Given the description of an element on the screen output the (x, y) to click on. 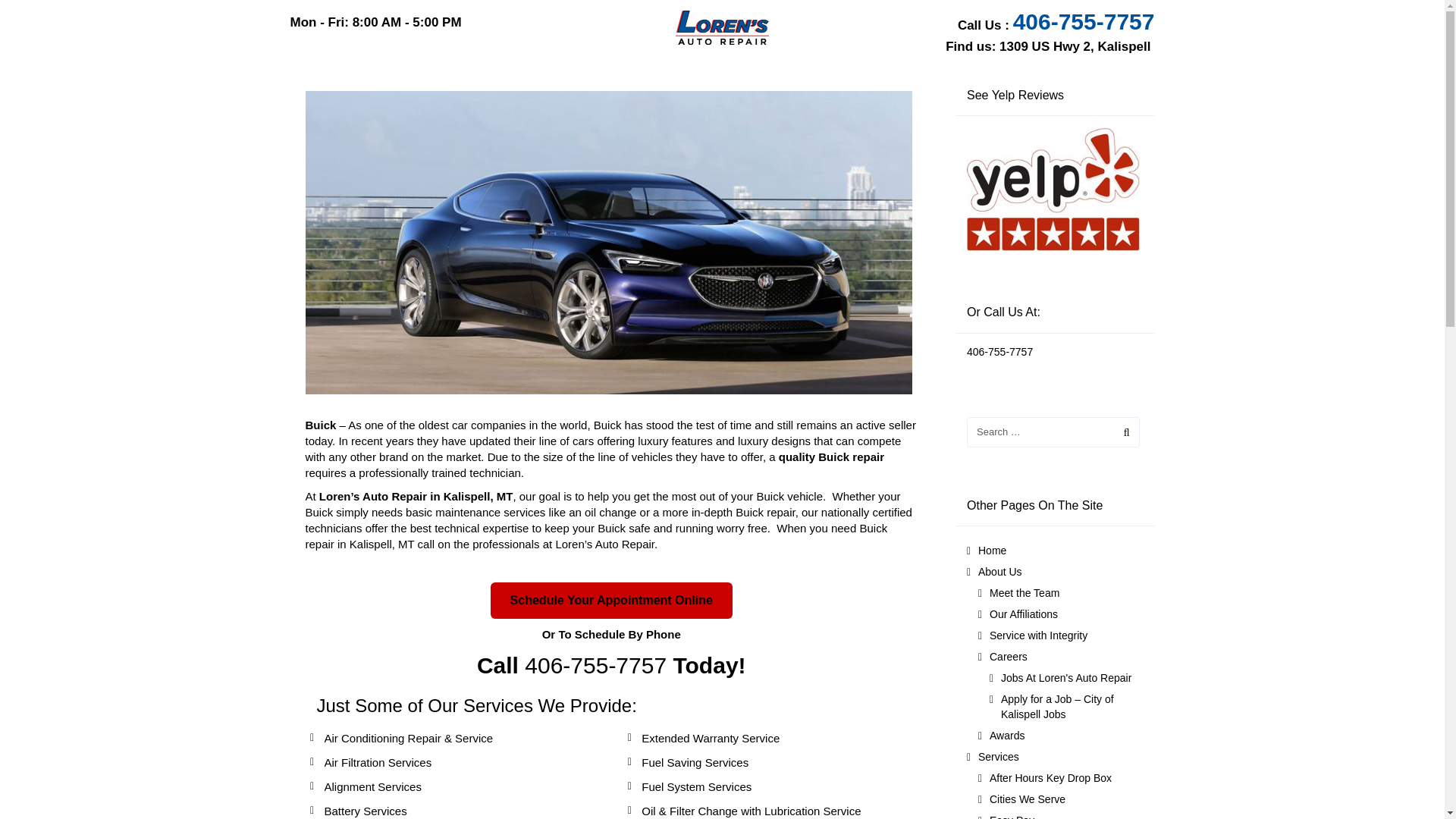
1309 US Hwy 2, Kalispell (1074, 46)
406-755-7757 (1083, 21)
